Given the description of an element on the screen output the (x, y) to click on. 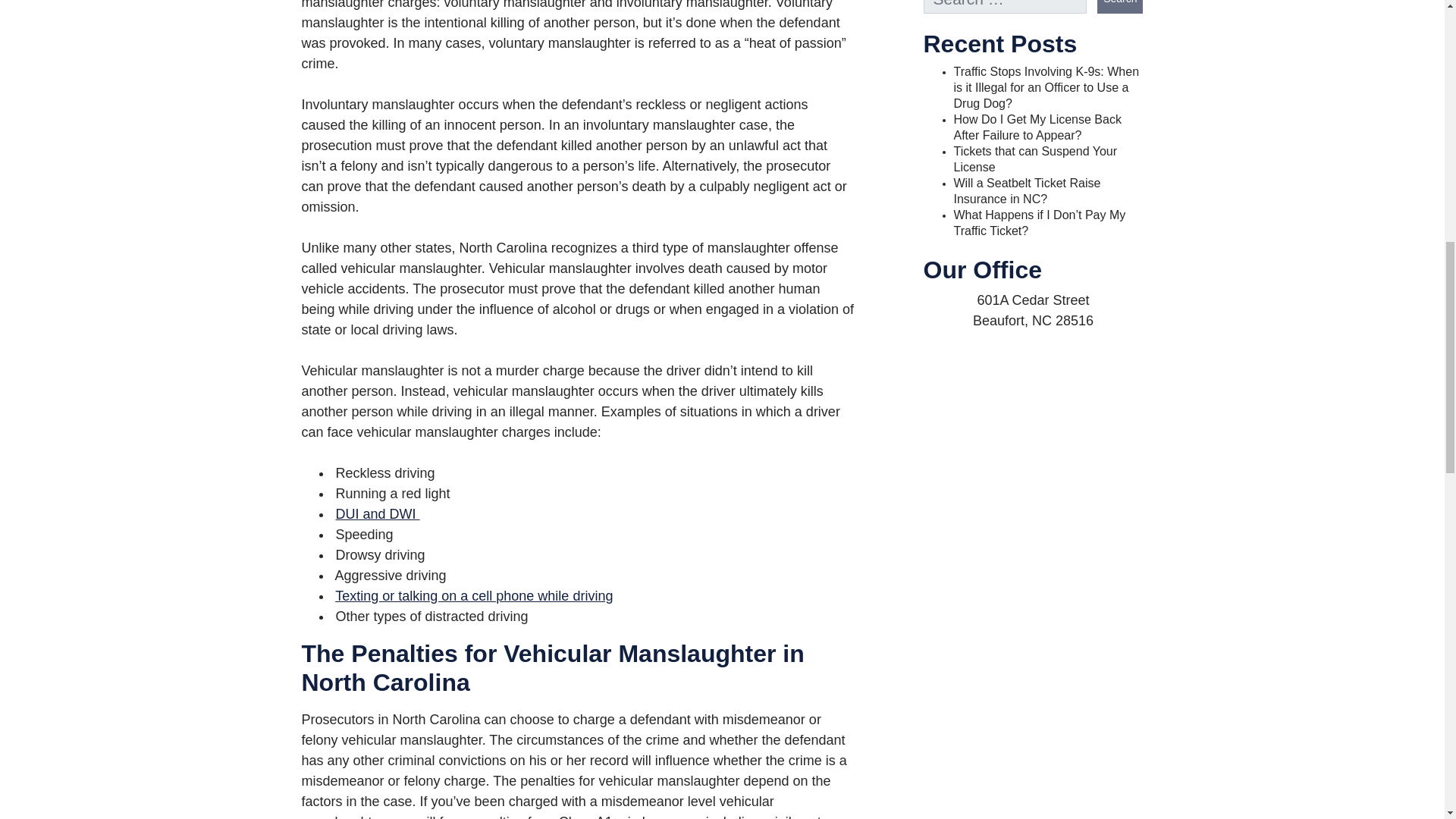
Search for: (1005, 6)
Search (1119, 6)
Search (1119, 6)
